Given the description of an element on the screen output the (x, y) to click on. 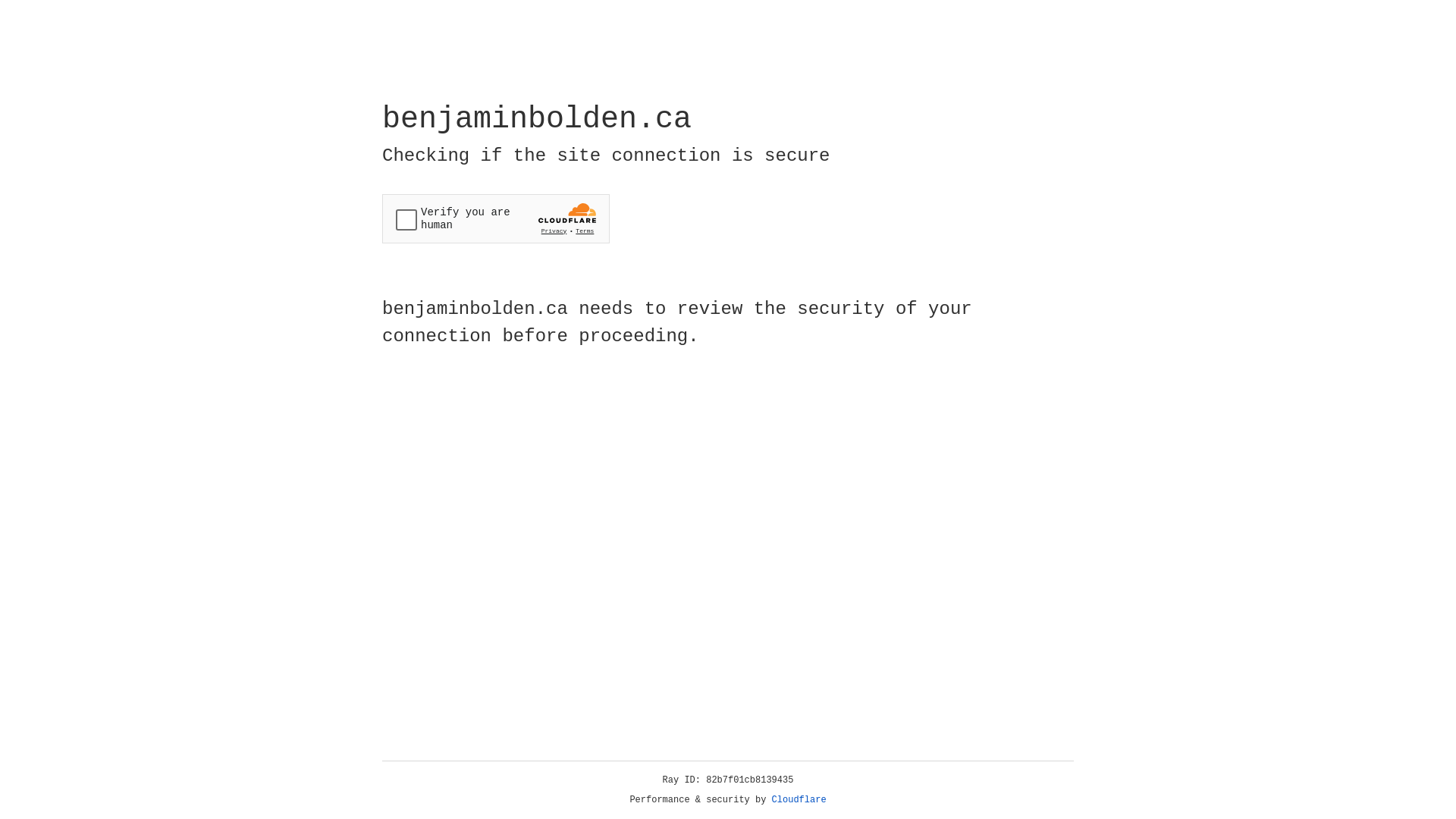
Cloudflare Element type: text (798, 799)
Widget containing a Cloudflare security challenge Element type: hover (495, 218)
